Given the description of an element on the screen output the (x, y) to click on. 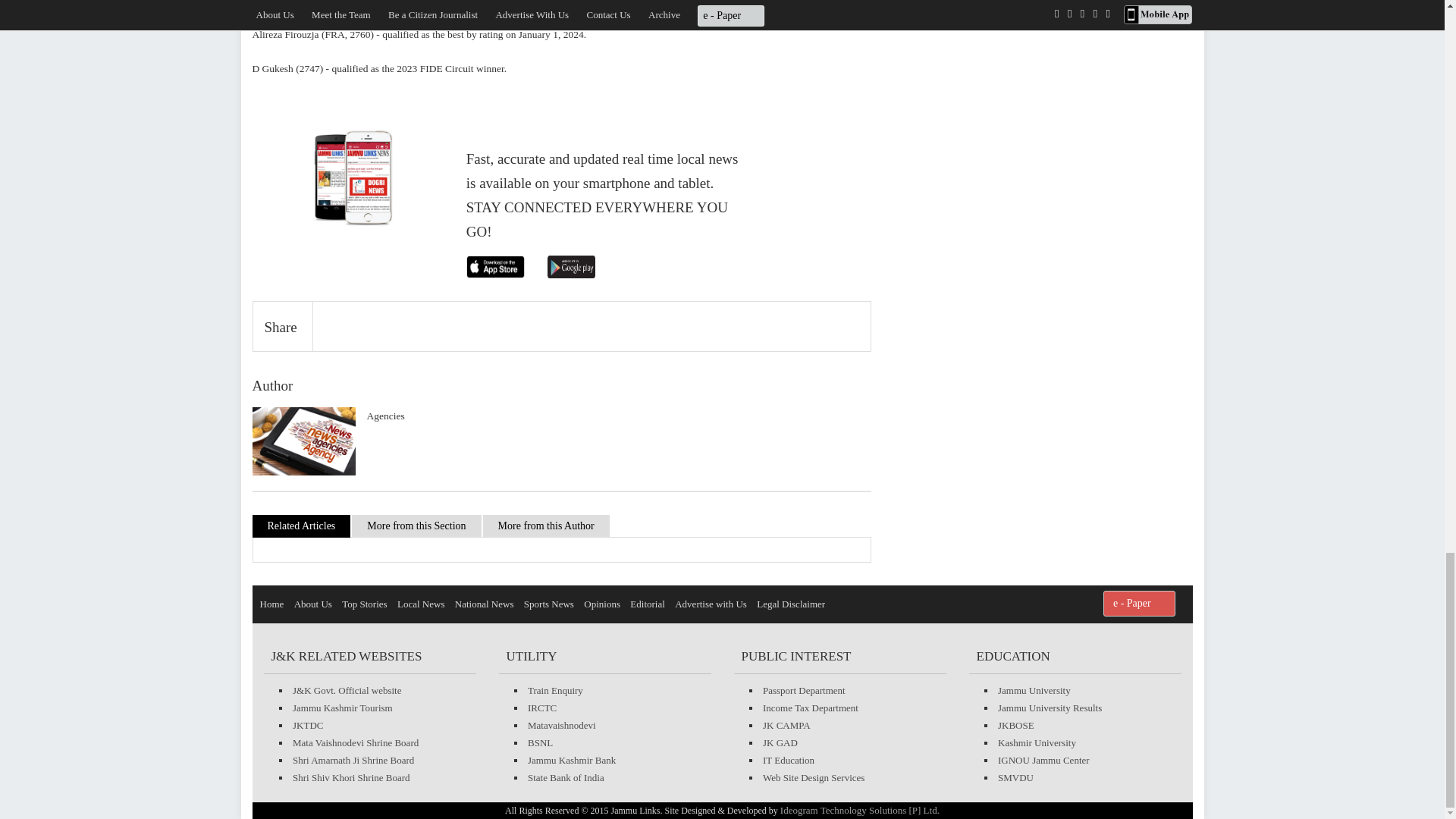
Wayanad landslides: Death toll increases to 218 (927, 79)
People get so fed with judicial process that they... (927, 295)
"Congress is trying to take nation on path of neg... (927, 151)
AAP holds protest at LG office, demands resignati... (927, 223)
Army (927, 15)
